Given the description of an element on the screen output the (x, y) to click on. 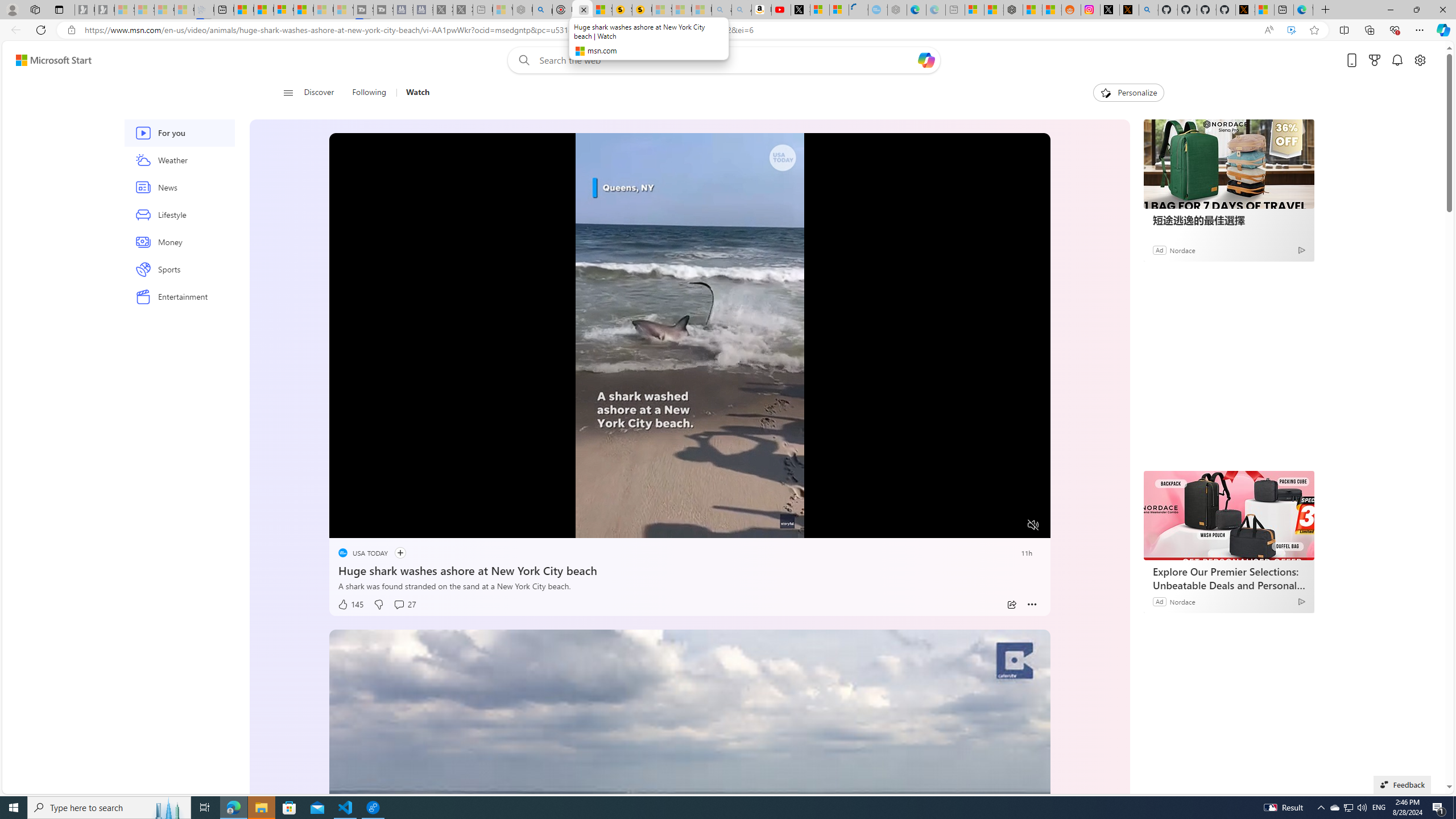
Fullscreen (1011, 525)
Follow (400, 553)
Web search (520, 60)
poe - Search (542, 9)
Newsletter Sign Up - Sleeping (104, 9)
placeholder USA TODAY (362, 552)
